Given the description of an element on the screen output the (x, y) to click on. 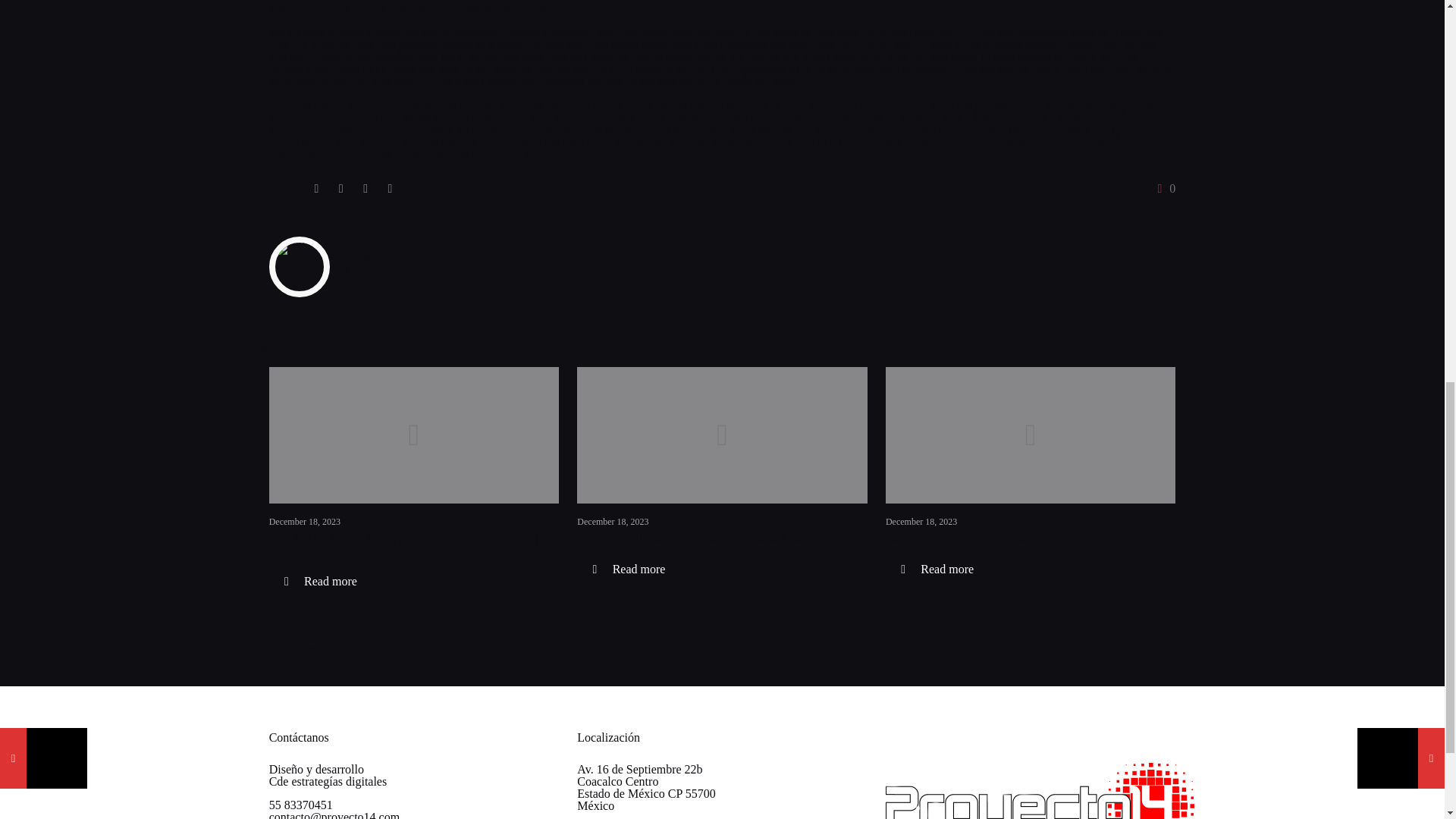
Read more (936, 569)
Read more (320, 581)
admin (379, 256)
0 (1162, 188)
Read more (627, 569)
